Given the description of an element on the screen output the (x, y) to click on. 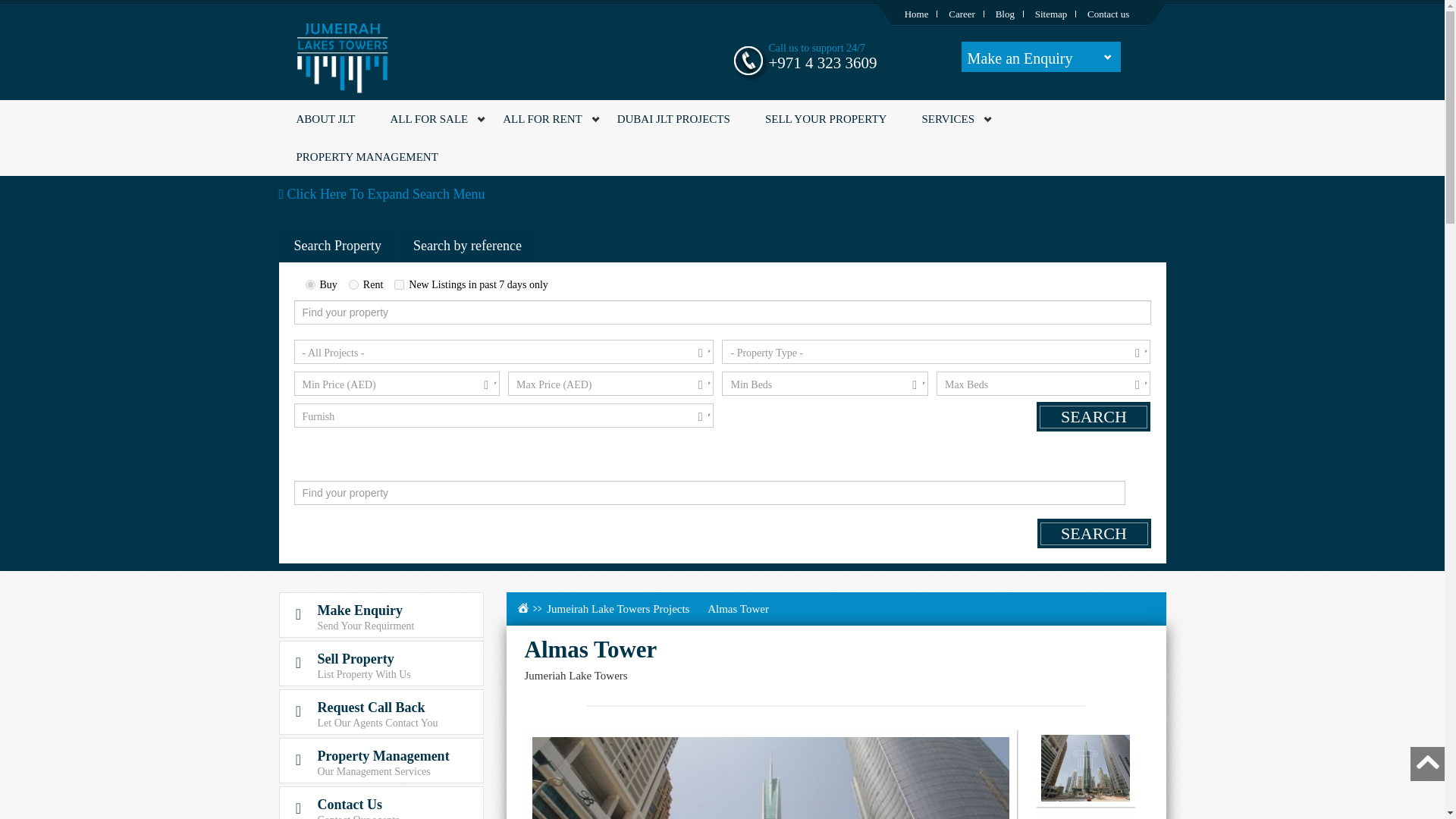
ABOUT JLT (325, 118)
Blog (1004, 13)
contact us (1108, 13)
JLT Projects (673, 118)
Make an Enquiry (1040, 56)
ALL FOR RENT (541, 118)
Jumeirah Lake Towers (342, 54)
Join our team (962, 13)
SERVICES (947, 118)
PROPERTY MANAGEMENT (367, 157)
DUBAI JLT PROJECTS (673, 118)
rent (353, 284)
About JLT (325, 118)
Career (962, 13)
Jumeirah Lake Towers (916, 13)
